Given the description of an element on the screen output the (x, y) to click on. 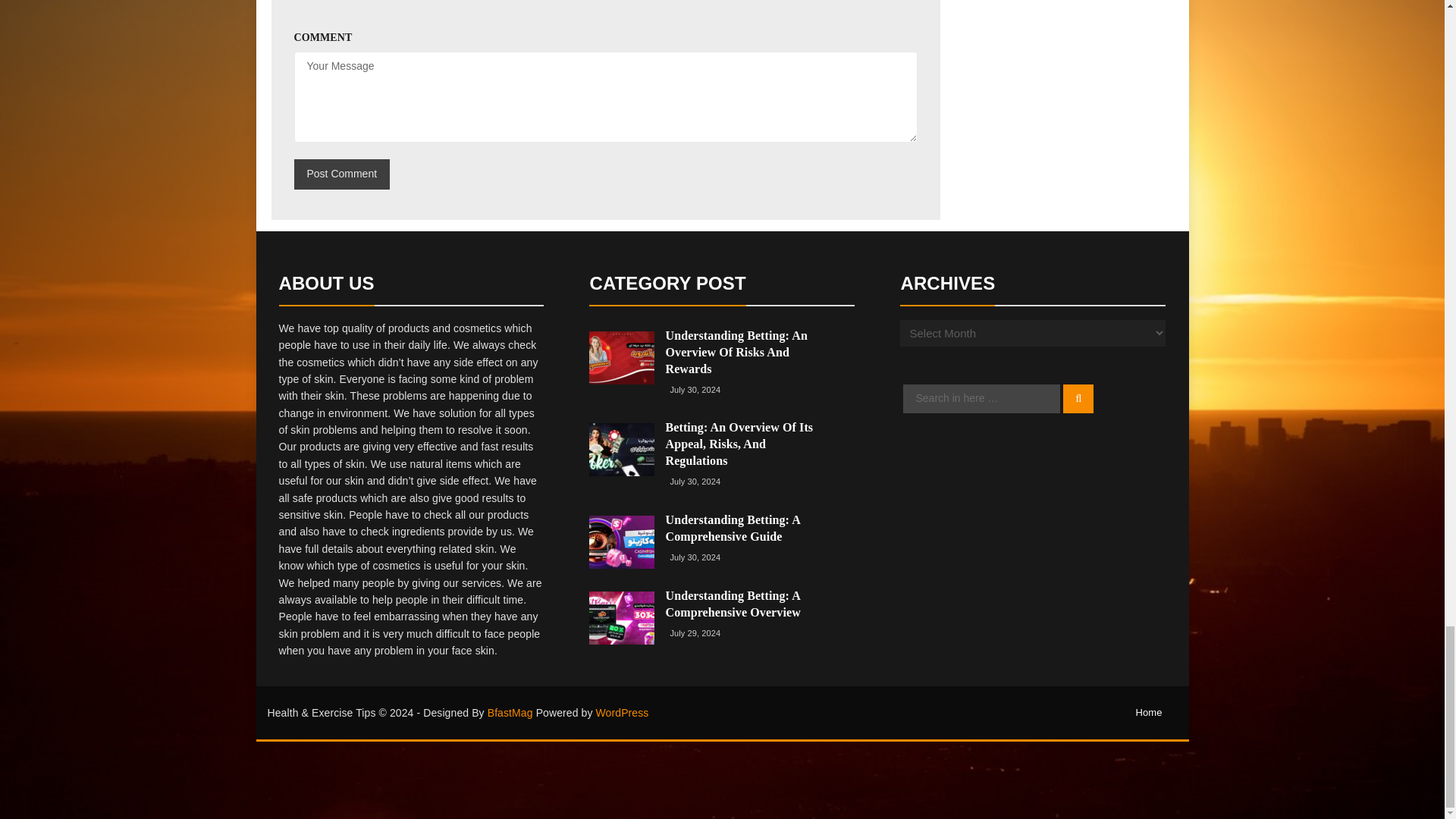
reCAPTCHA (409, 12)
Post Comment (342, 173)
